Given the description of an element on the screen output the (x, y) to click on. 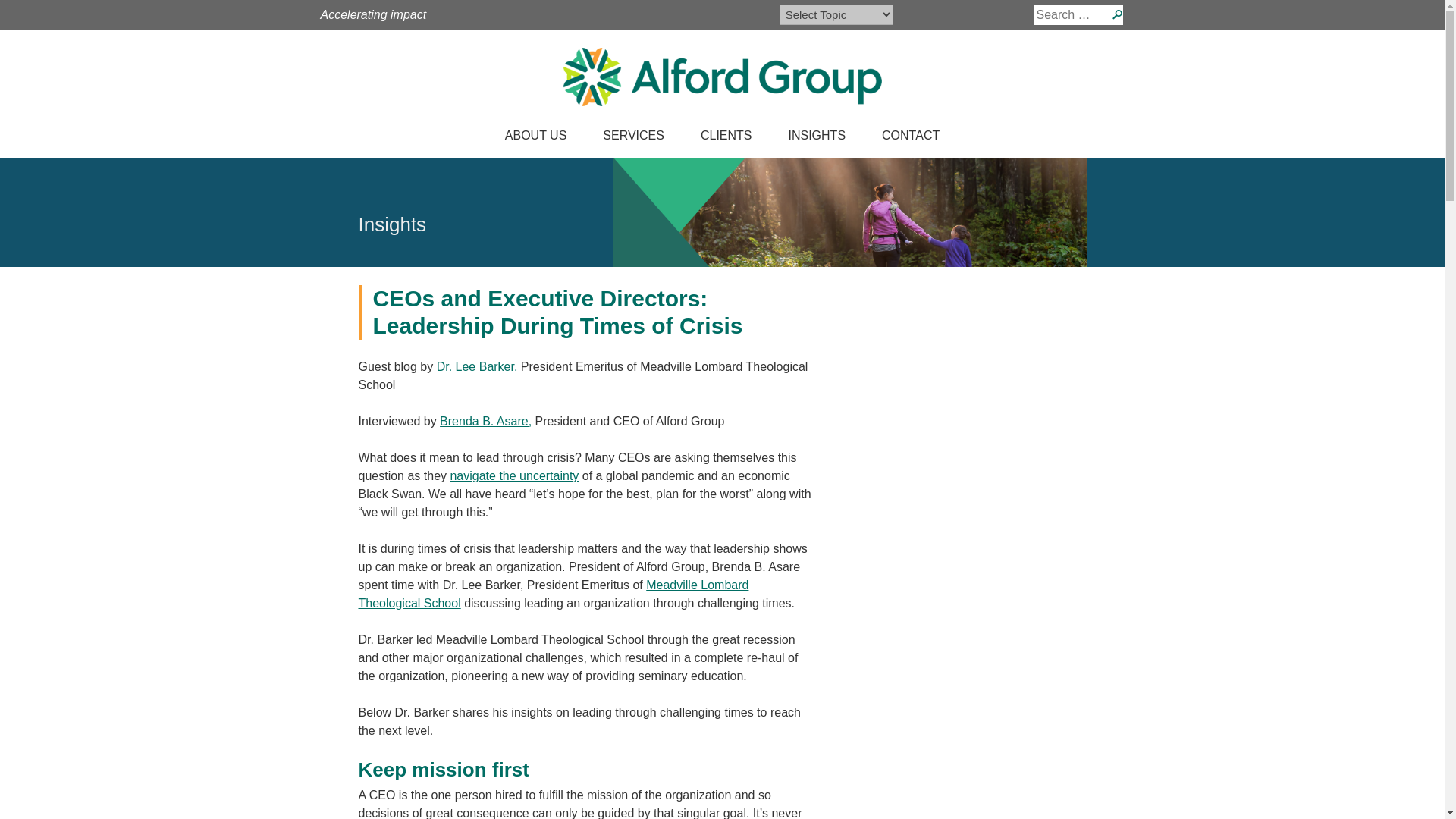
SERVICES (633, 137)
CLIENTS (726, 137)
LinkedIn (611, 14)
Dr. Lee Barker, (477, 366)
INSIGHTS (817, 137)
YouTube (630, 14)
Facebook (575, 14)
navigate the uncertainty (513, 475)
Brenda B. Asare, (485, 420)
Meadville Lombard Theological School (553, 593)
